Given the description of an element on the screen output the (x, y) to click on. 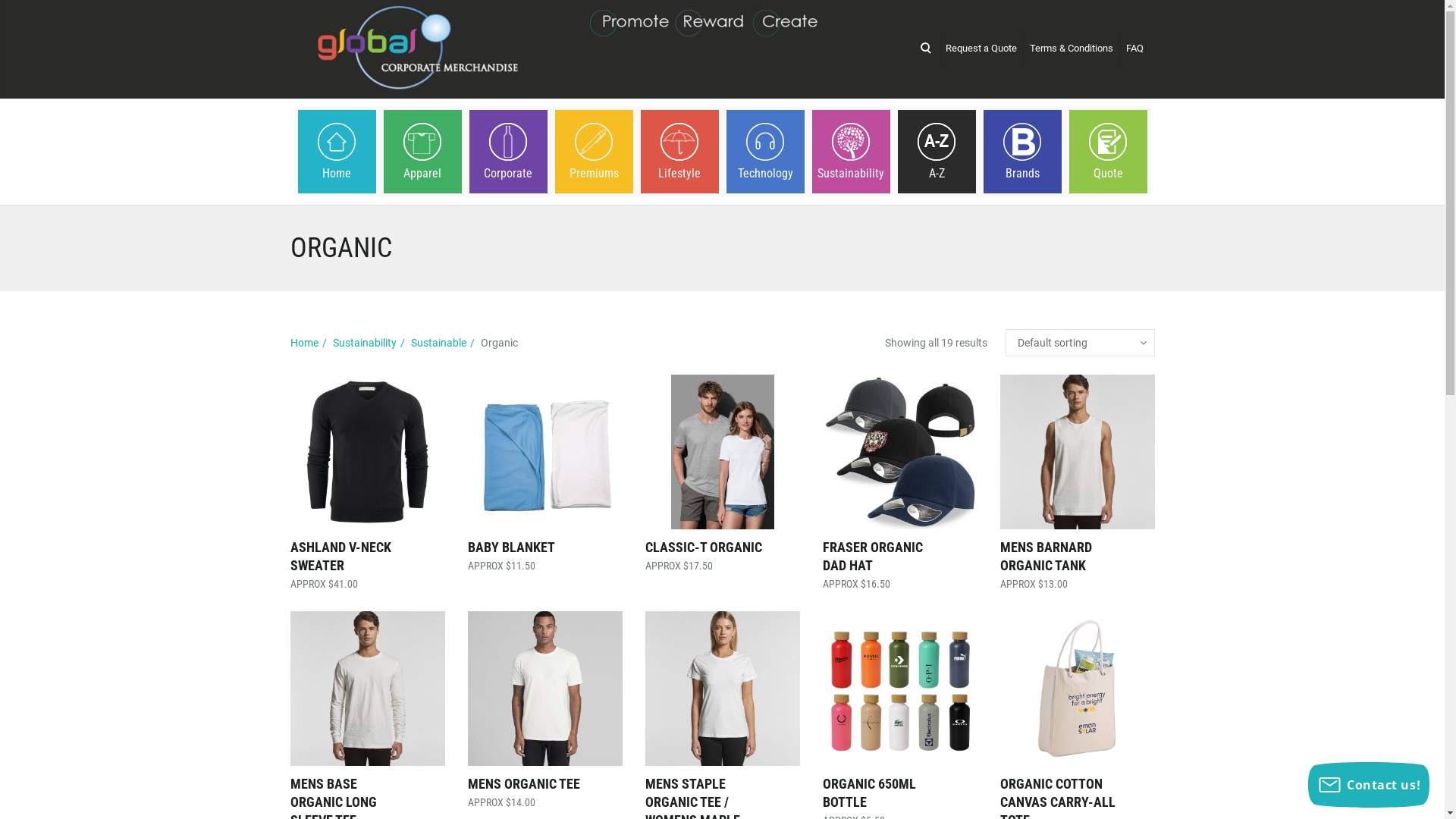
MENS ORGANIC TEE Element type: text (523, 783)
Home Element type: text (336, 151)
ORGANIC 650ML BOTTLE Element type: text (868, 792)
Apparel Element type: text (421, 151)
Corporate Element type: text (508, 151)
FAQ Element type: text (1133, 47)
Terms & Conditions Element type: text (1071, 47)
Technology Element type: text (764, 151)
FRASER ORGANIC DAD HAT Element type: text (872, 556)
Sustainability Element type: text (851, 151)
Sustainable Element type: text (438, 342)
Home Element type: text (303, 342)
Quote Element type: text (1107, 151)
Lifestyle Element type: text (679, 151)
Sustainability Element type: text (363, 342)
BABY BLANKET Element type: text (510, 547)
CLASSIC-T ORGANIC Element type: text (702, 547)
ASHLAND V-NECK SWEATER Element type: text (339, 556)
A-Z Element type: text (936, 151)
Brands Element type: text (1022, 151)
Premiums Element type: text (593, 151)
Request a Quote Element type: text (980, 47)
MENS BARNARD ORGANIC TANK Element type: text (1045, 556)
